Given the description of an element on the screen output the (x, y) to click on. 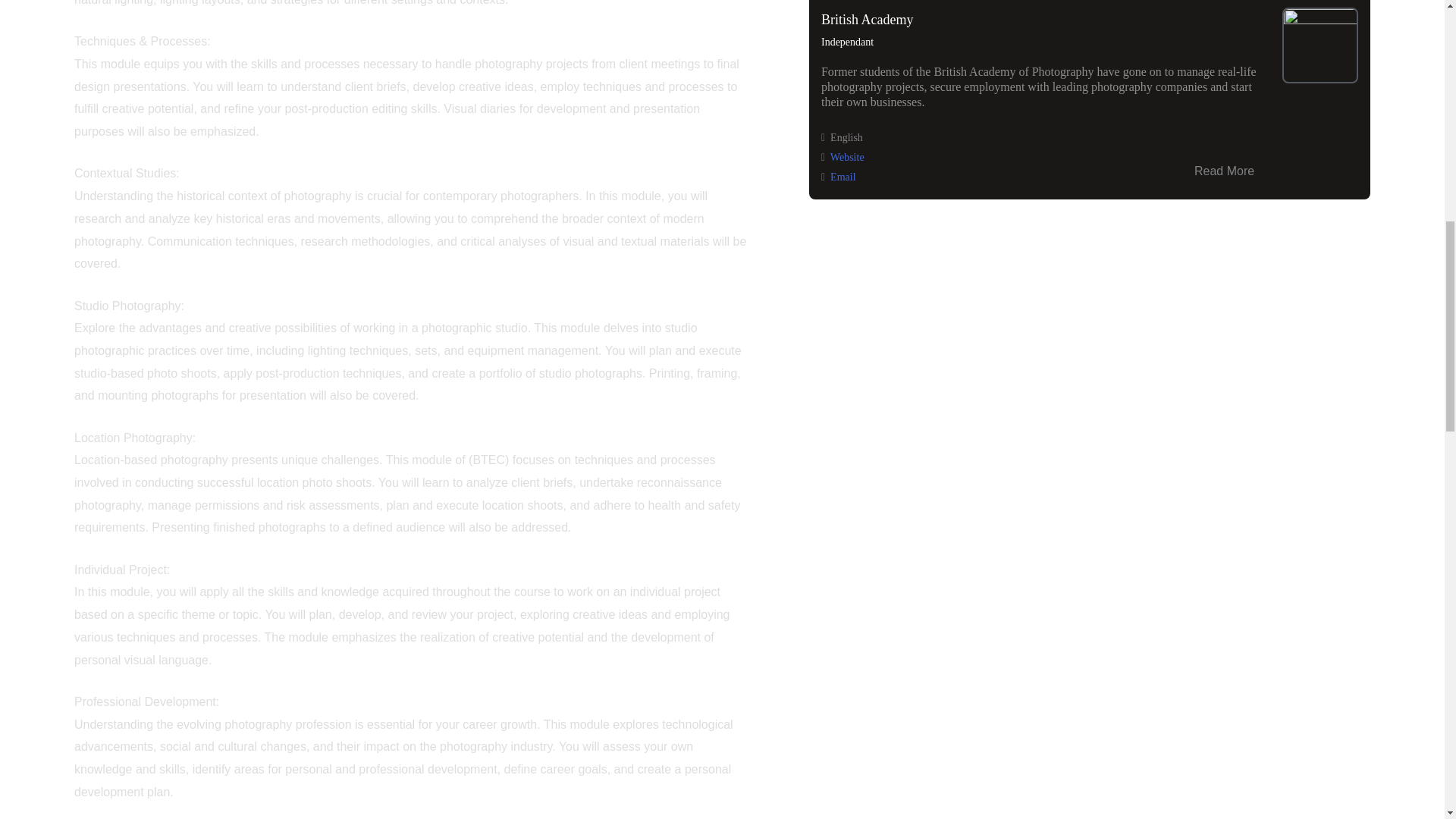
Website (846, 156)
Email (842, 176)
Read More (1224, 171)
Email (842, 176)
Website (846, 156)
